Given the description of an element on the screen output the (x, y) to click on. 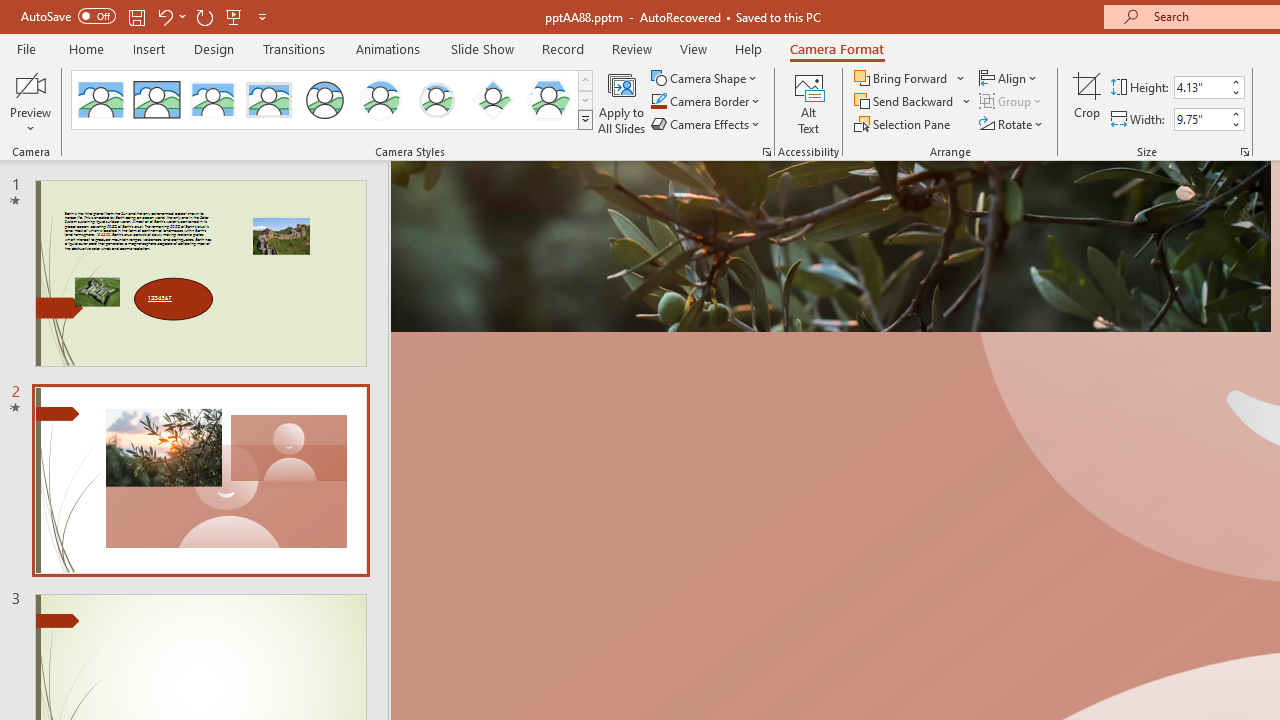
Apply to All Slides (621, 102)
Soft Edge Rectangle (268, 100)
Enable Camera Preview (30, 84)
Center Shadow Rectangle (212, 100)
Group (1012, 101)
Camera Shape (705, 78)
Center Shadow Circle (381, 100)
Camera Border Teal, Accent 1 (658, 101)
